Given the description of an element on the screen output the (x, y) to click on. 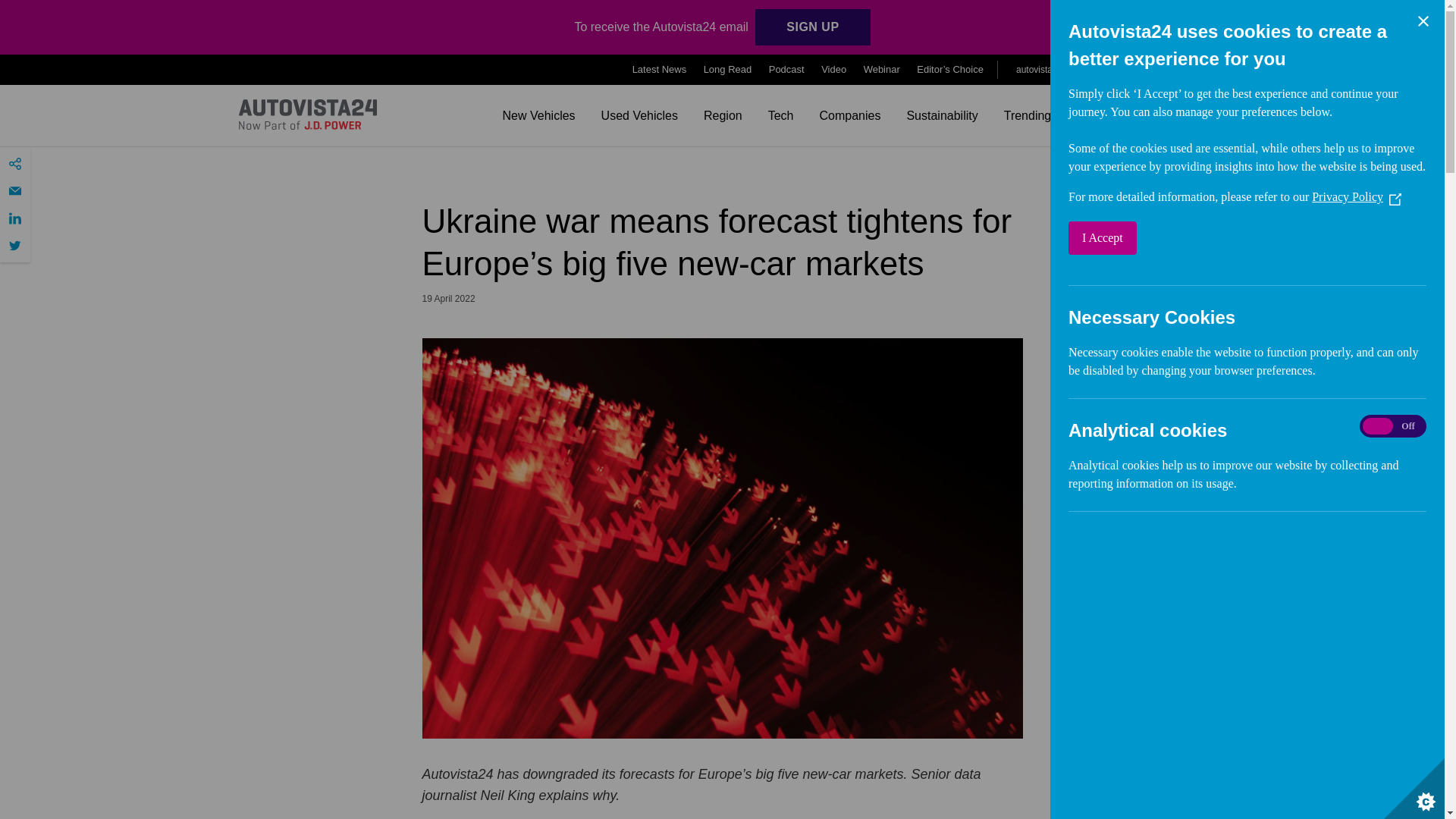
Long Read (727, 69)
Video (833, 69)
I Accept (1242, 237)
Podcast (786, 69)
Webinar (881, 69)
Products (1173, 69)
Latest News (659, 69)
SIGN UP (812, 27)
autovistagroup.com (1060, 69)
